Given the description of an element on the screen output the (x, y) to click on. 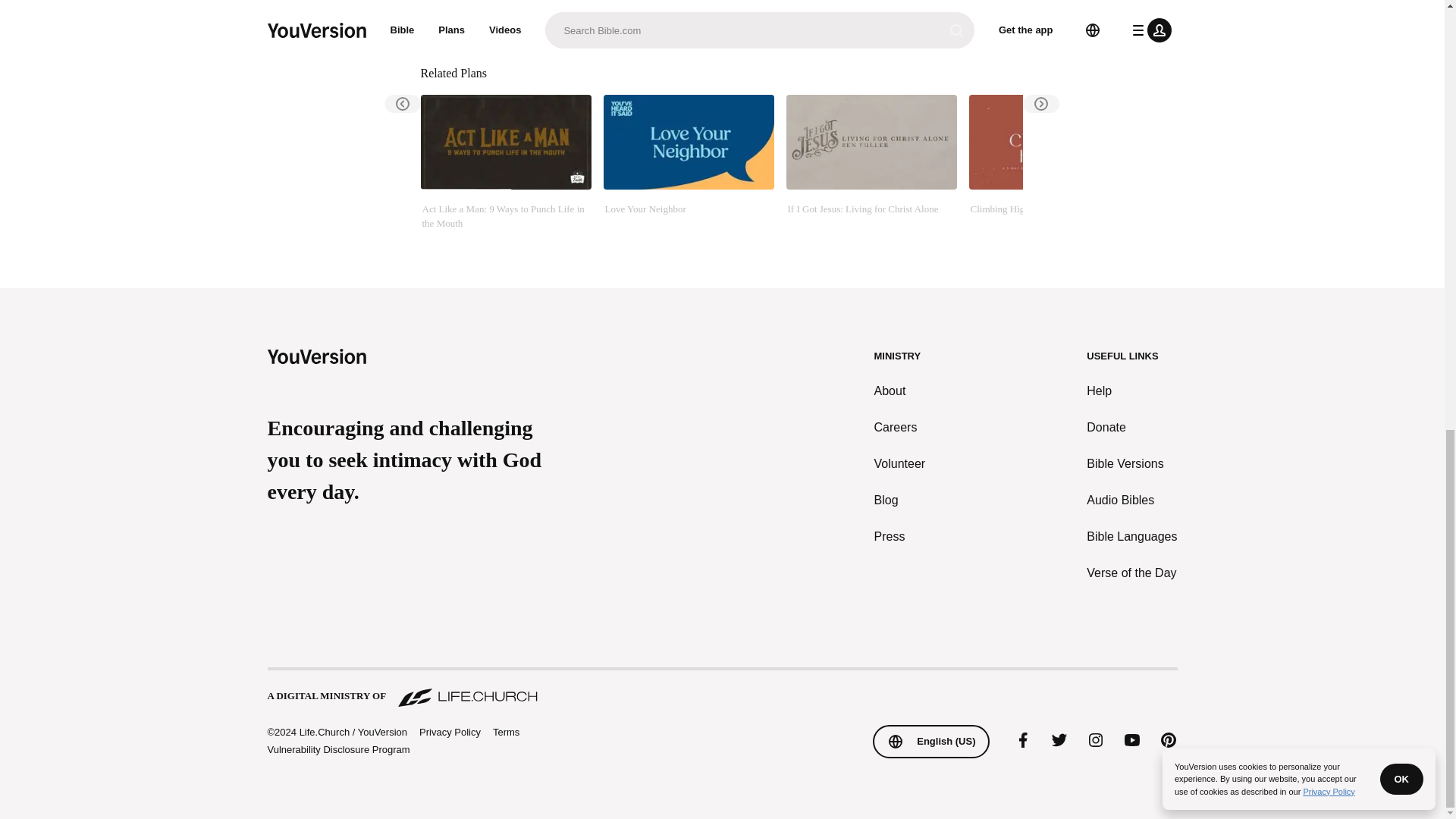
Privacy Policy (449, 732)
Vulnerability Disclosure Program (337, 749)
Careers (900, 427)
Blog (900, 500)
Donate (1131, 427)
About The Publisher (514, 17)
Help (1131, 391)
Press (900, 536)
If I Got Jesus: Living for Christ Alone (871, 170)
Verse of the Day (1131, 573)
Volunteer (900, 464)
Climbing Higher (1054, 170)
Audio Bibles (1131, 500)
Act Like a Man: 9 Ways to Punch Life in the Mouth (505, 170)
Love Your Neighbor (689, 170)
